Given the description of an element on the screen output the (x, y) to click on. 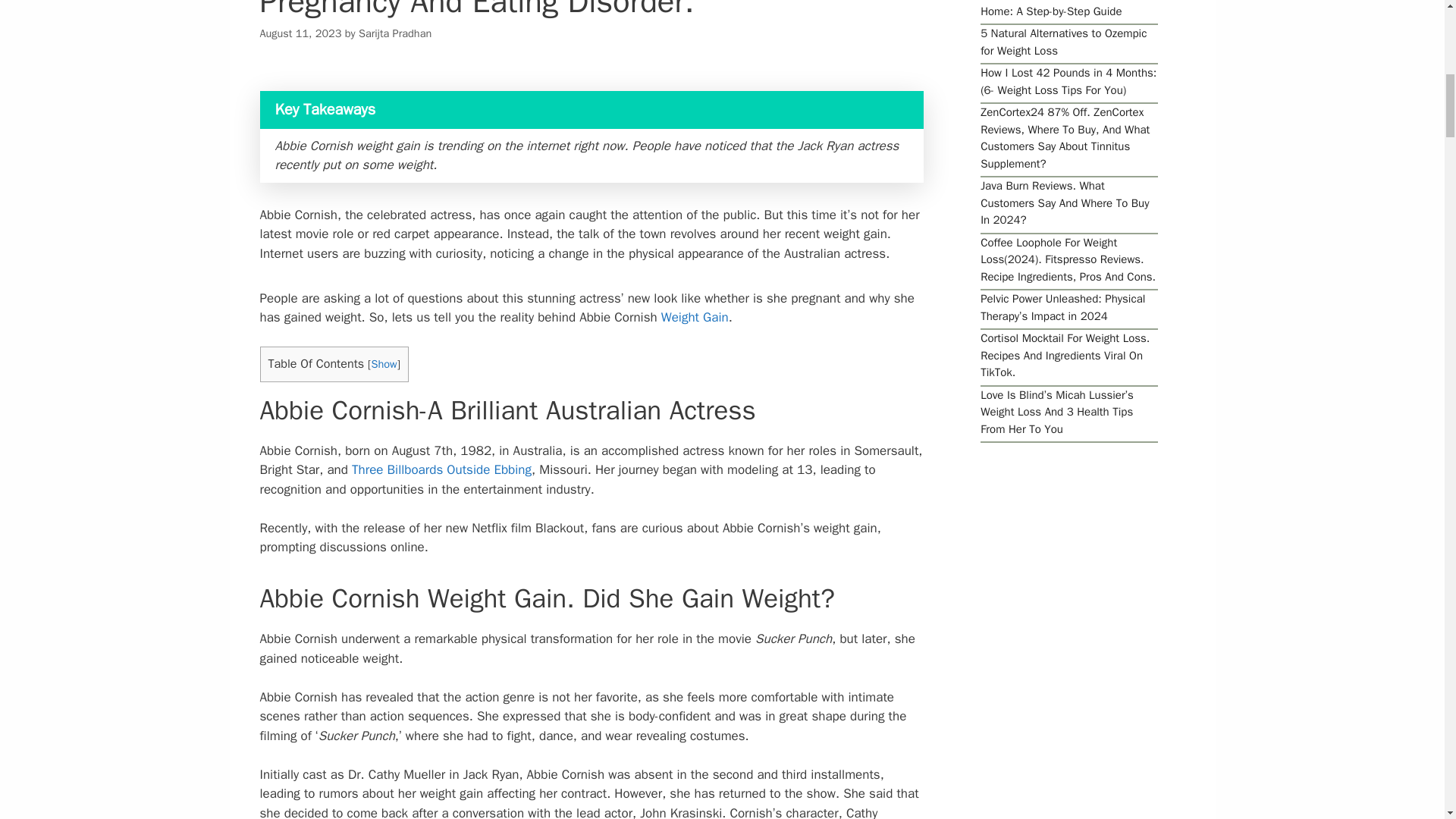
Sarijta Pradhan (394, 33)
Three Billboards Outside Ebbing (441, 469)
Weight Gain (695, 317)
Show (383, 364)
View all posts by Sarijta Pradhan (394, 33)
